Given the description of an element on the screen output the (x, y) to click on. 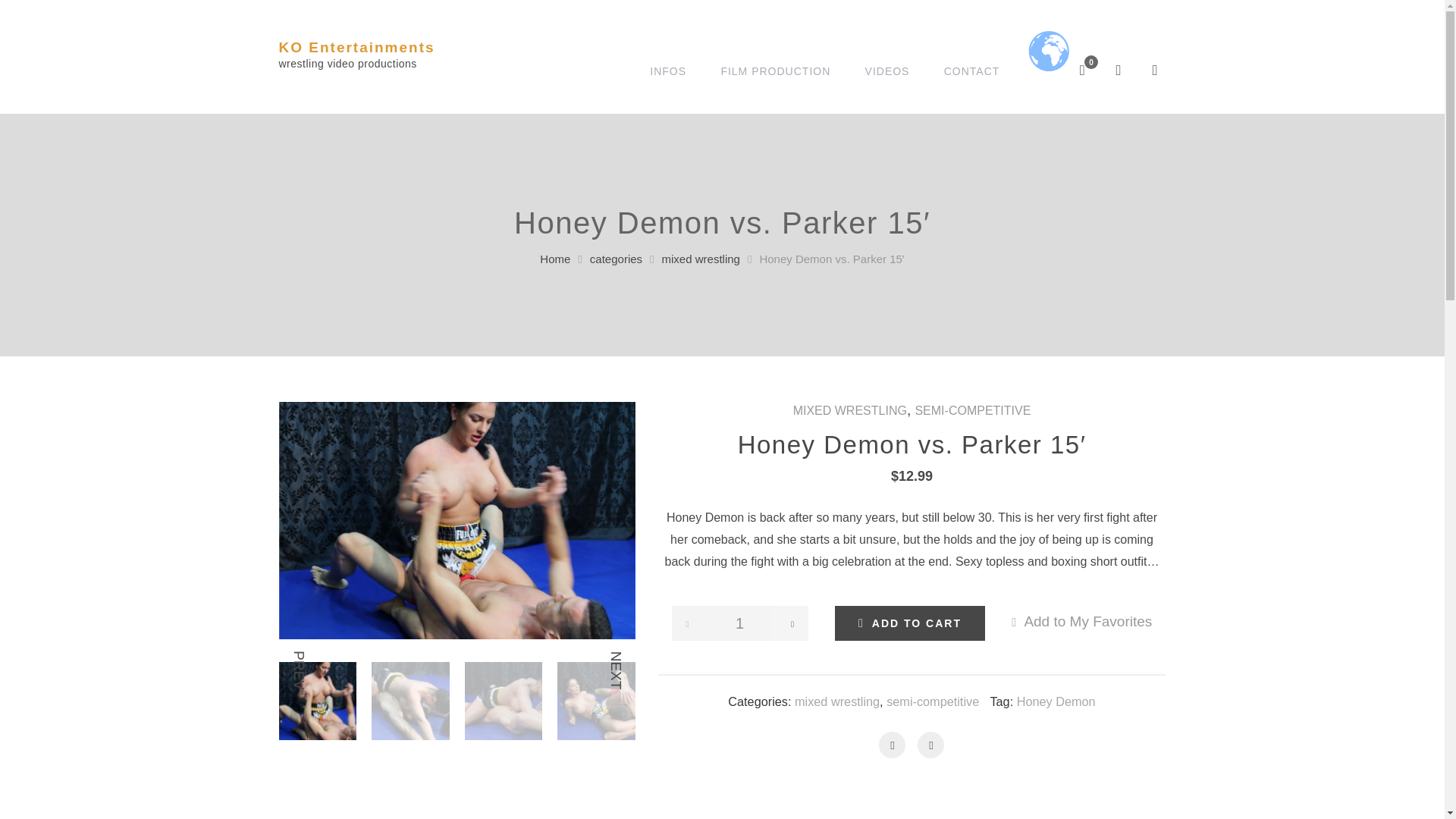
KO Entertainments (357, 47)
1 (739, 623)
CONTACT (971, 71)
VIDEOS (887, 71)
INFOS (668, 71)
FILM PRODUCTION (775, 71)
